Given the description of an element on the screen output the (x, y) to click on. 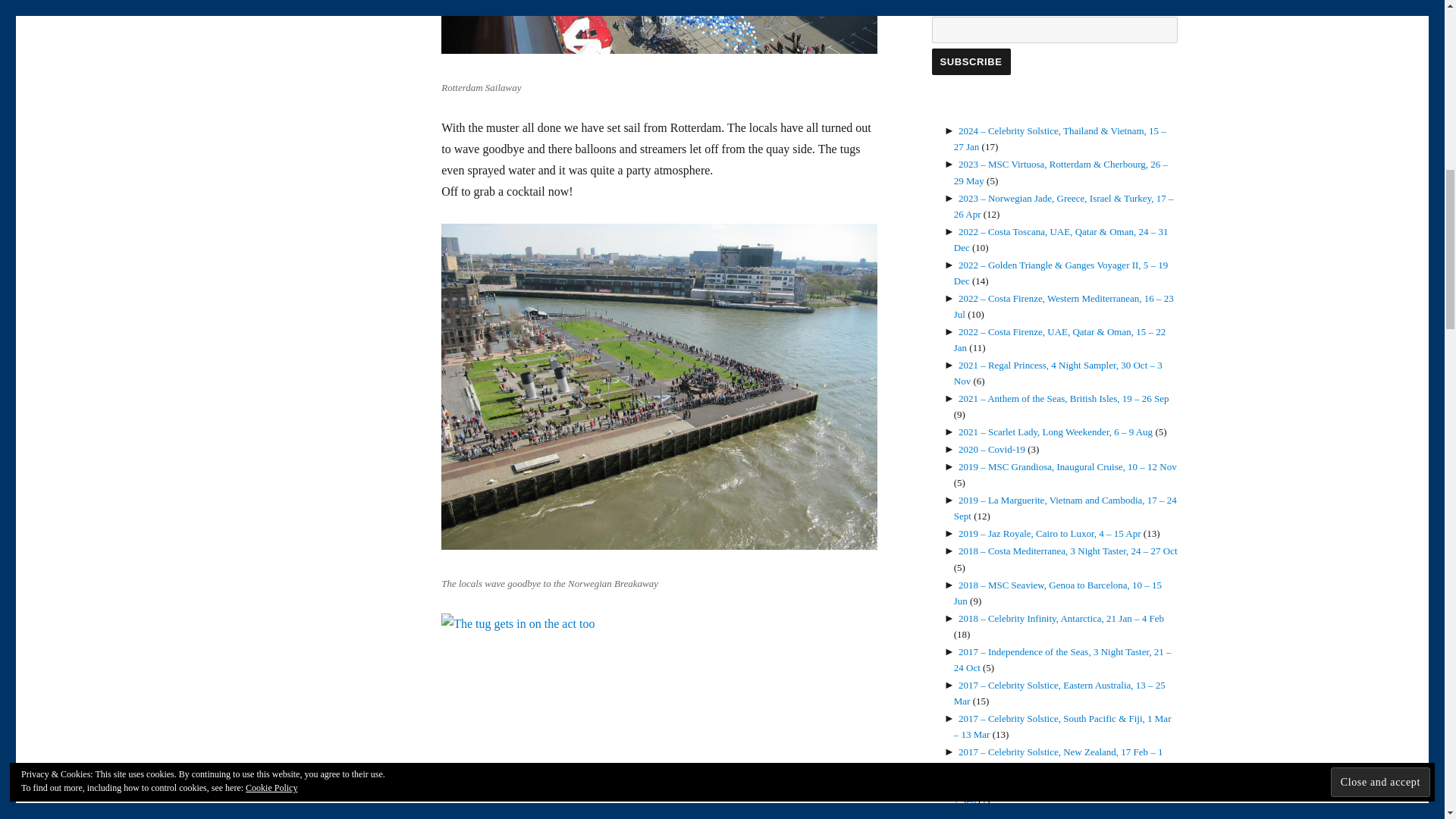
Subscribe (970, 61)
